Given the description of an element on the screen output the (x, y) to click on. 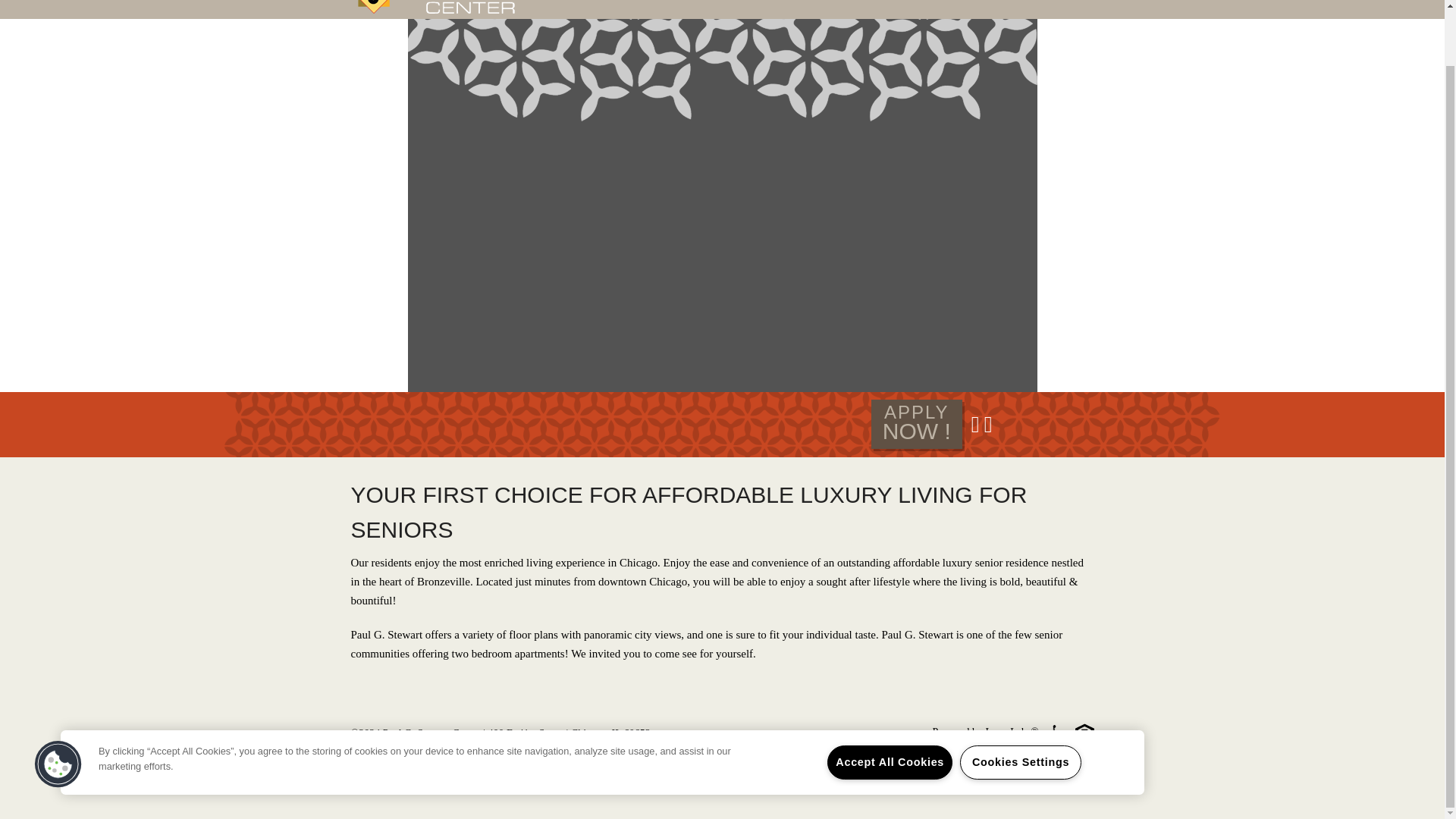
Floor Plans (408, 757)
Home (362, 758)
Accept All Cookies (889, 701)
Contact (660, 757)
CONTACT (1066, 3)
Amenities (458, 757)
Gallery (842, 3)
GALLERY (842, 3)
Neighborhood (557, 757)
RESIDENTS (1002, 3)
NEIGHBORHOOD (919, 3)
Gallery (916, 423)
Cookies Settings (503, 757)
Floor Plans (1020, 701)
